Given the description of an element on the screen output the (x, y) to click on. 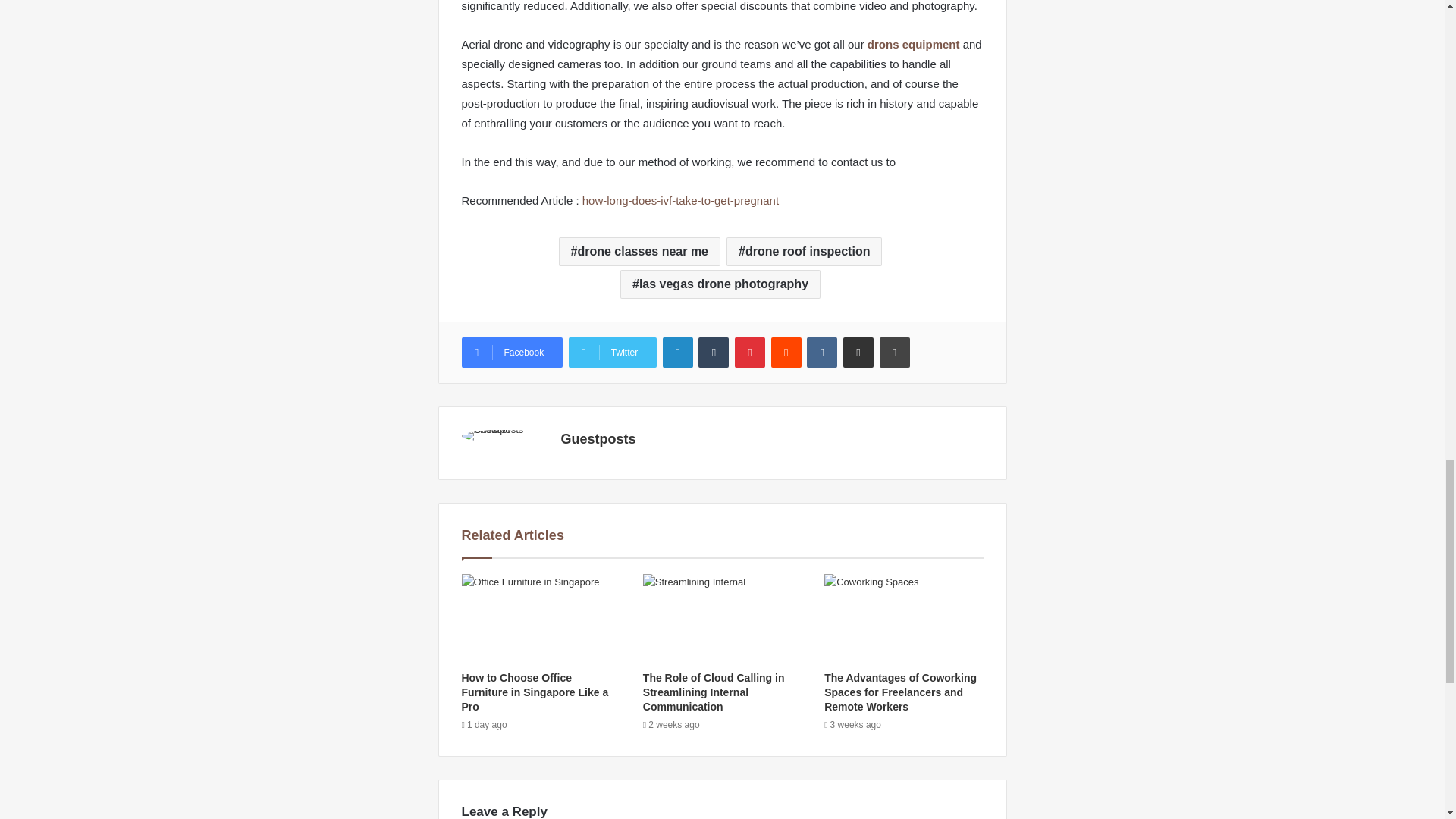
Guestposts (598, 438)
Print (894, 352)
drone roof inspection (804, 251)
Pinterest (750, 352)
LinkedIn (677, 352)
How to Choose Office Furniture in Singapore Like a Pro (534, 691)
Tumblr (713, 352)
Twitter (612, 352)
drone classes near me (639, 251)
VKontakte (821, 352)
